Given the description of an element on the screen output the (x, y) to click on. 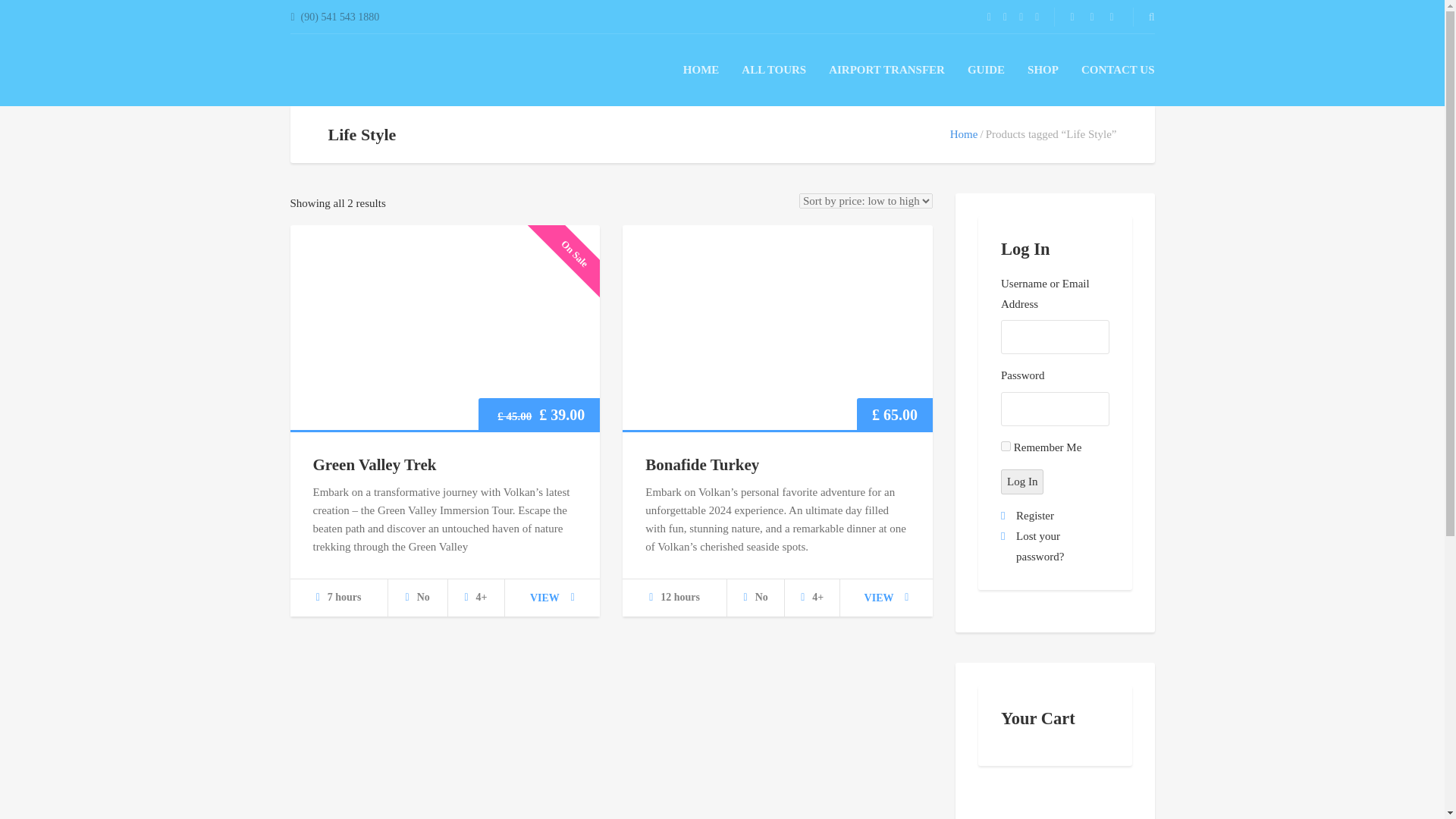
Bonafide Turkey (701, 464)
CONTACT US (1117, 69)
VIEW (552, 597)
GUIDE (986, 69)
ALL TOURS (773, 69)
Lost your password? (1040, 545)
AIRPORT TRANSFER (886, 69)
HOME (700, 69)
SHOP (1042, 69)
VIEW (886, 597)
Register (1035, 515)
forever (1005, 446)
Home (964, 133)
Green Valley Trek (374, 464)
Log In (1022, 481)
